Given the description of an element on the screen output the (x, y) to click on. 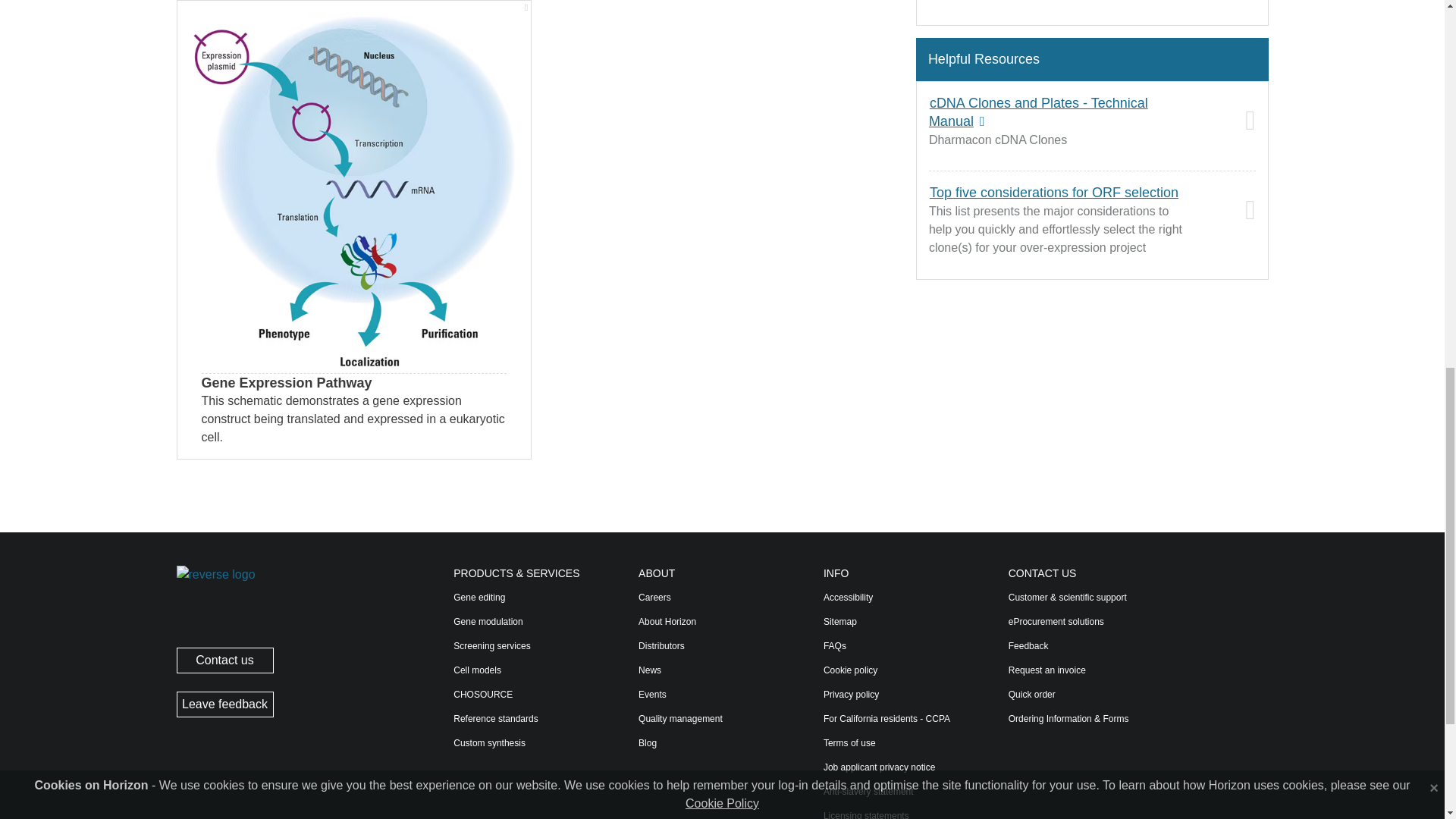
Gene Expression Pathway (354, 193)
